Given the description of an element on the screen output the (x, y) to click on. 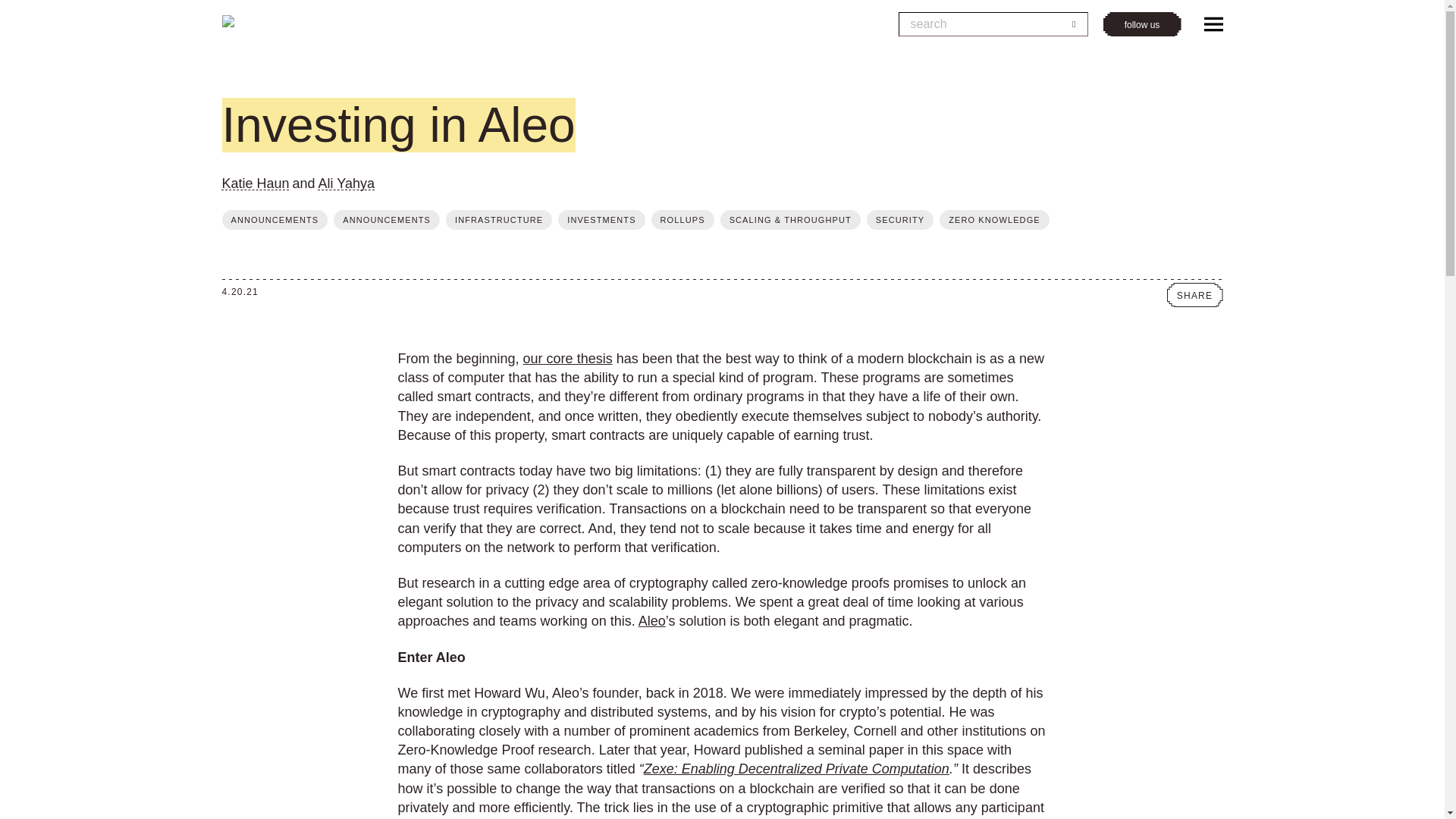
follow us (1141, 24)
Ali Yahya (346, 183)
ROLLUPS (682, 219)
INVESTMENTS (601, 219)
Katie Haun (254, 183)
SECURITY (899, 219)
Zexe: Enabling Decentralized Private Computation (796, 768)
Aleo (652, 620)
ANNOUNCEMENTS (386, 219)
INFRASTRUCTURE (498, 219)
